Given the description of an element on the screen output the (x, y) to click on. 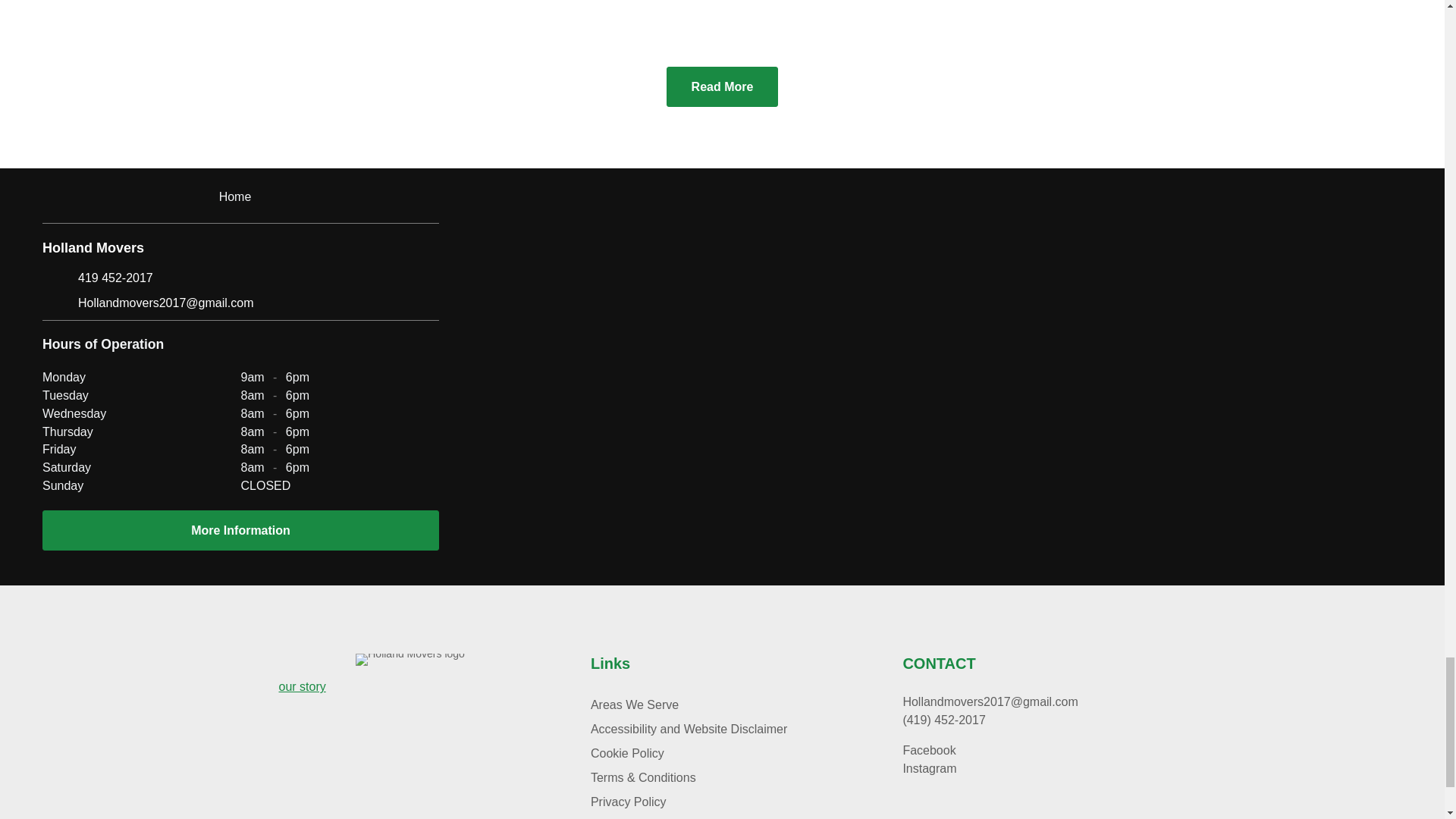
holland-movers-logo (409, 659)
Read More (722, 86)
